Given the description of an element on the screen output the (x, y) to click on. 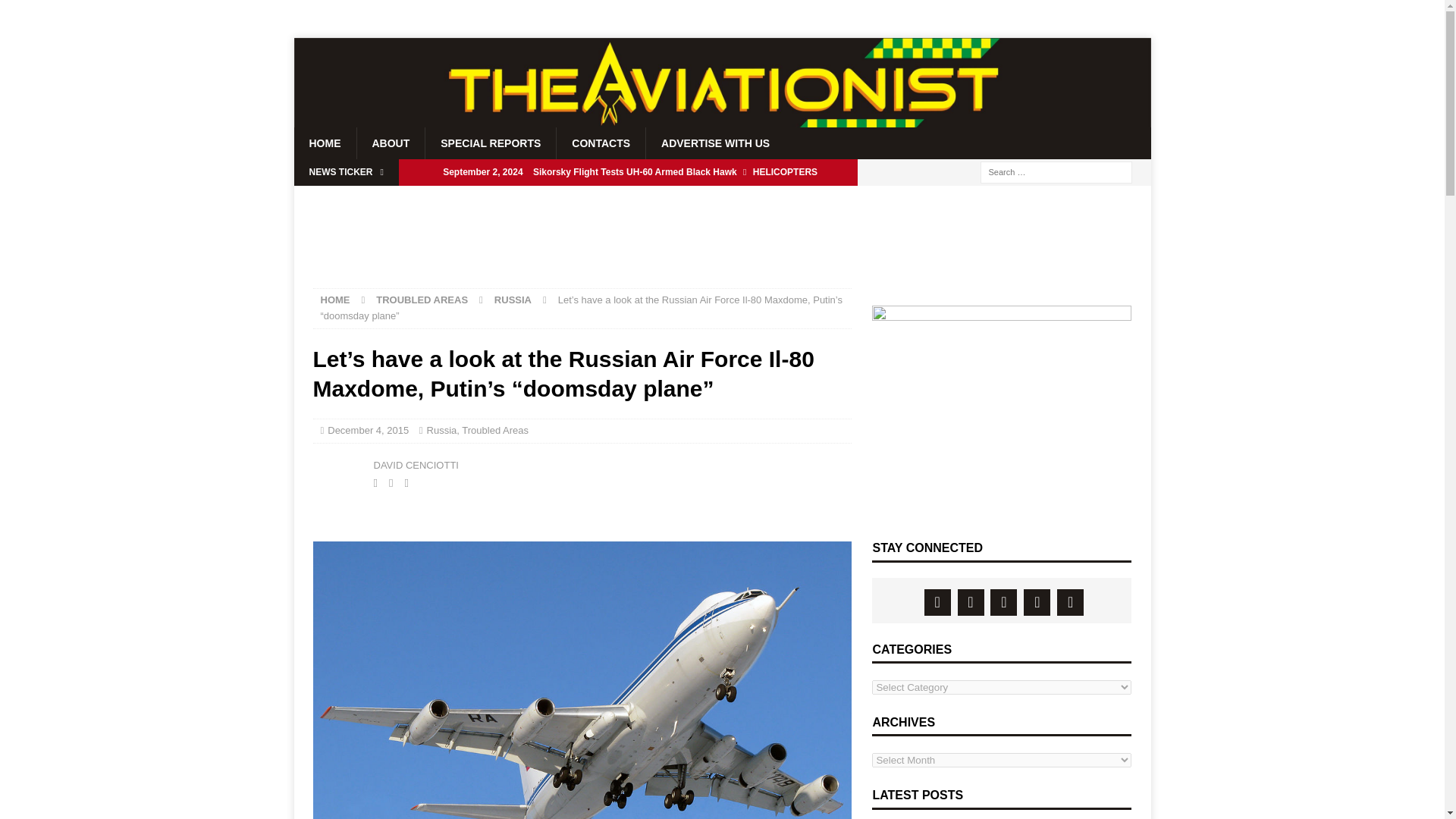
The Aviationist (722, 121)
December 4, 2015 (368, 430)
RUSSIA (513, 299)
David Cenciotti (339, 473)
ADVERTISE WITH US (714, 142)
Search (56, 11)
DAVID CENCIOTTI (415, 464)
Sikorsky Flight Tests UH-60 Armed Black Hawk (628, 171)
HOME (334, 299)
